Given the description of an element on the screen output the (x, y) to click on. 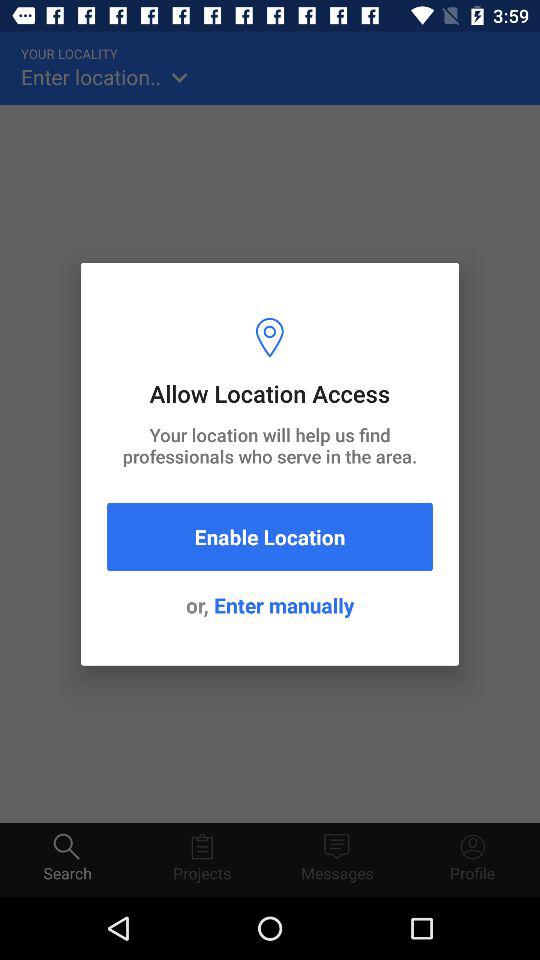
press the icon above or, enter manually item (269, 536)
